Given the description of an element on the screen output the (x, y) to click on. 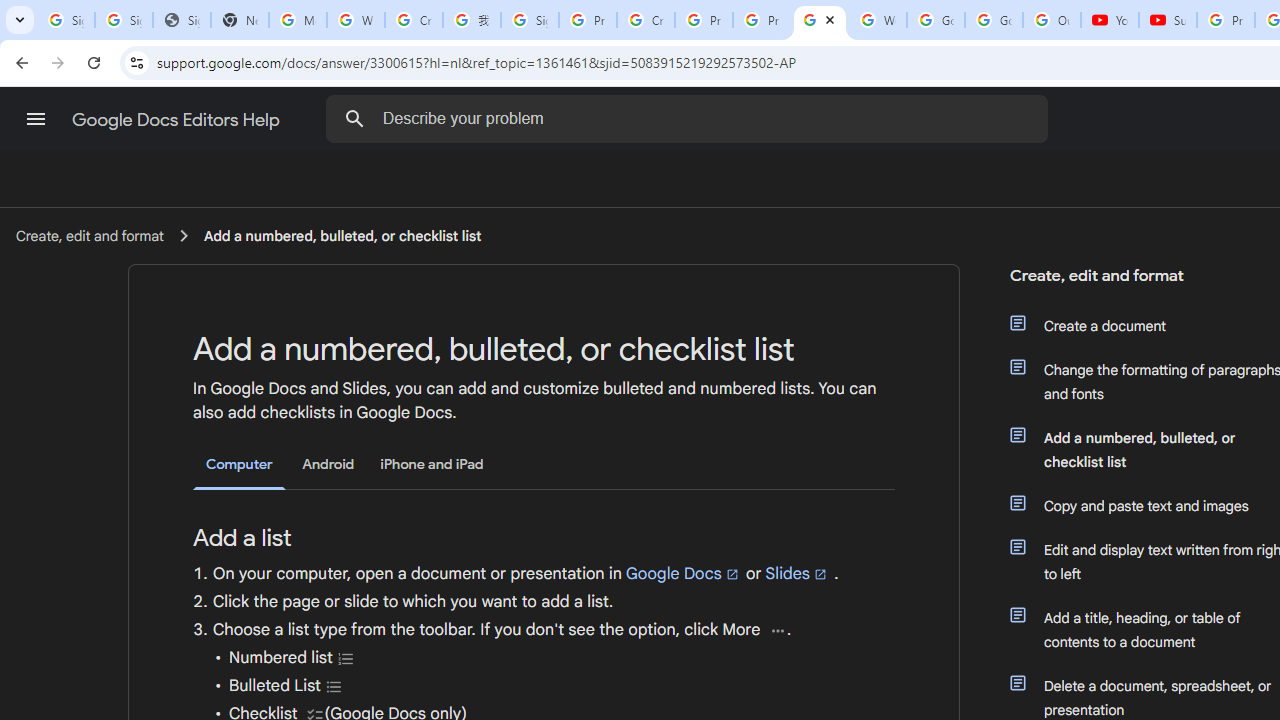
Who is my administrator? - Google Account Help (355, 20)
New Tab (239, 20)
Sign in - Google Accounts (529, 20)
Slides (797, 573)
Sign in - Google Accounts (65, 20)
More (777, 630)
Google Docs (683, 573)
